Given the description of an element on the screen output the (x, y) to click on. 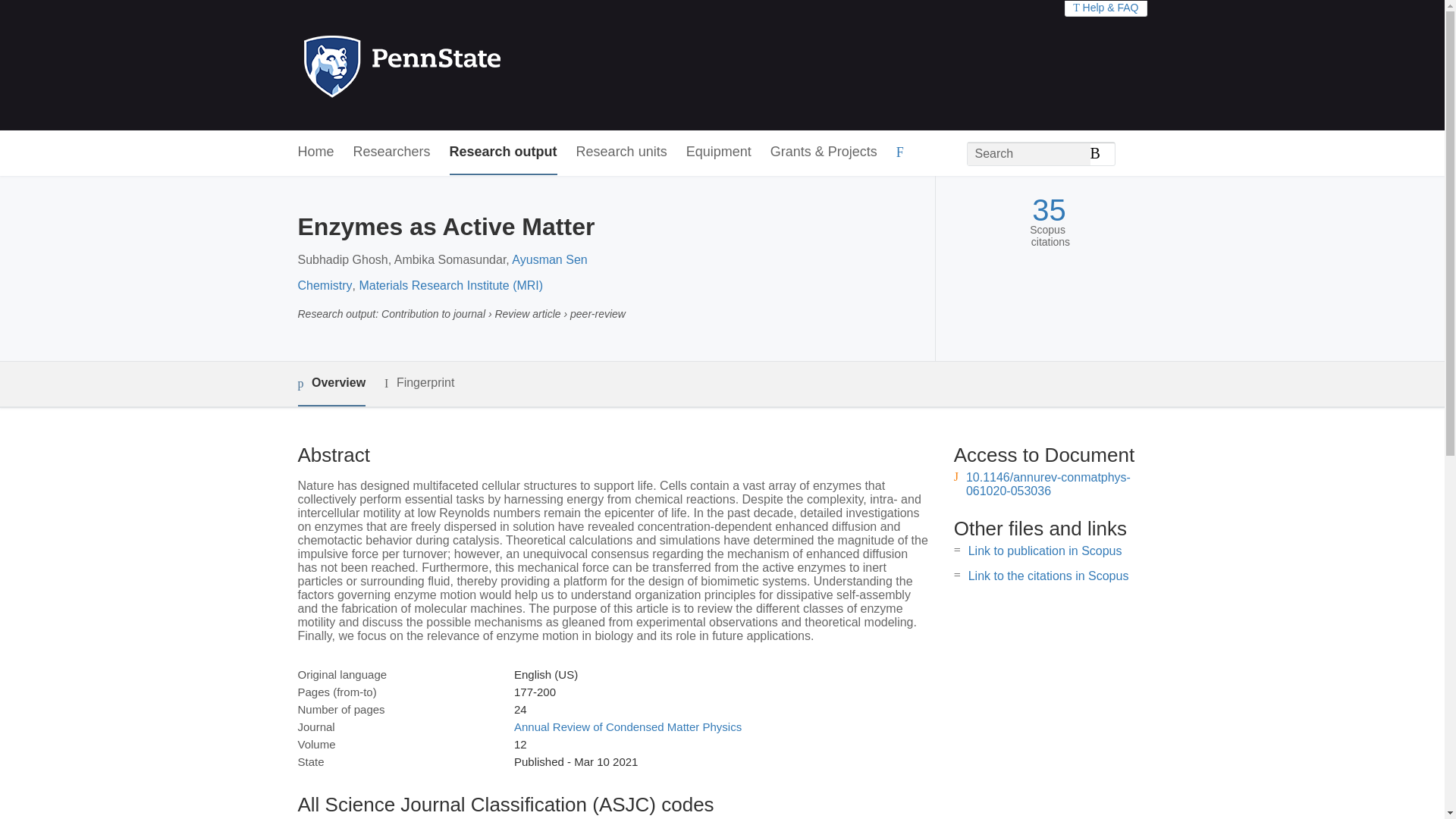
Annual Review of Condensed Matter Physics (627, 726)
35 (1048, 210)
Ayusman Sen (549, 259)
Researchers (391, 152)
Research units (621, 152)
Fingerprint (419, 382)
Link to publication in Scopus (1045, 550)
Chemistry (324, 285)
Overview (331, 383)
Equipment (718, 152)
Research output (503, 152)
Penn State Home (467, 65)
Link to the citations in Scopus (1048, 575)
